Given the description of an element on the screen output the (x, y) to click on. 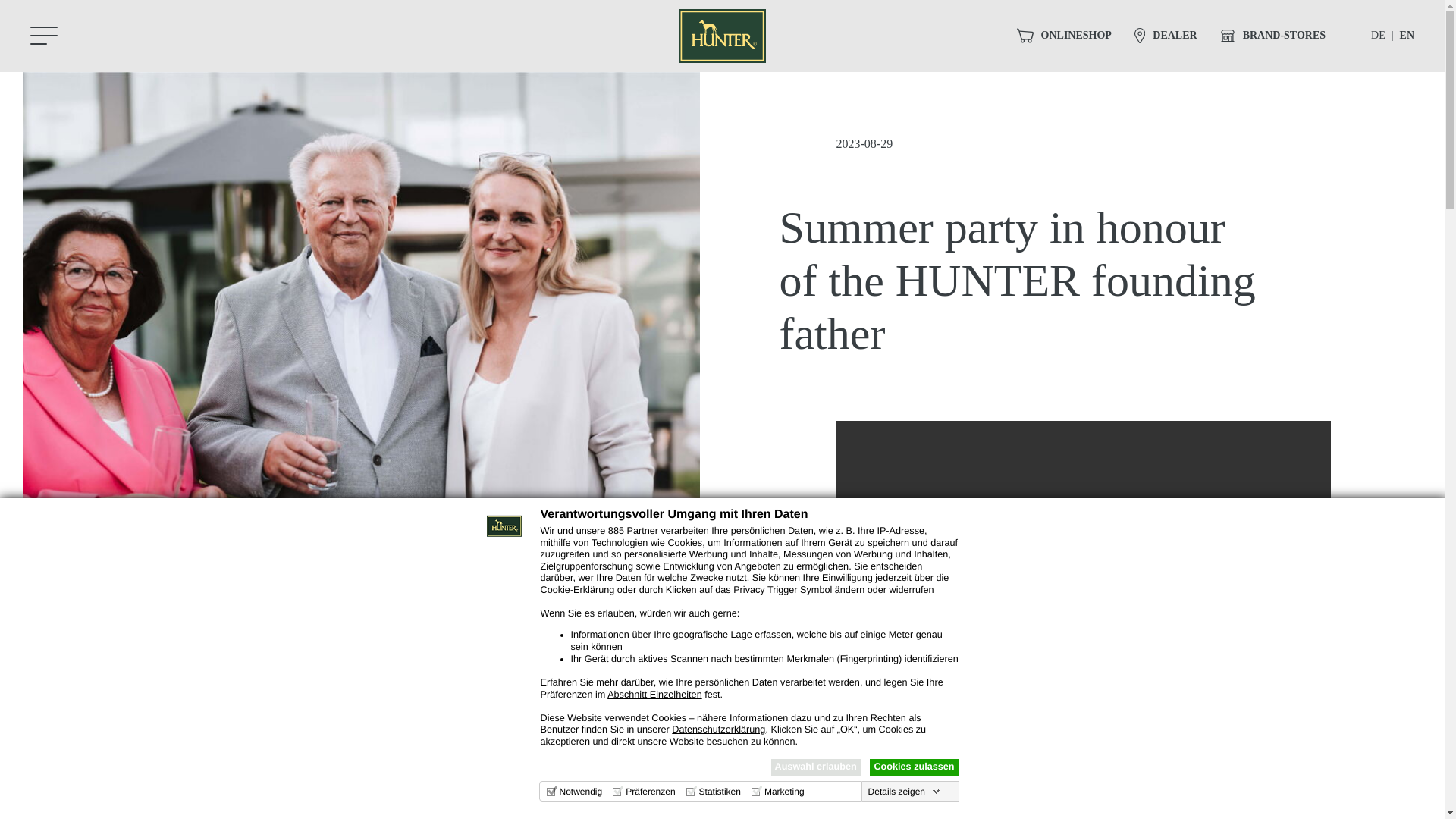
Details zeigen (903, 791)
unsere 885 Partner (617, 530)
Abschnitt Einzelheiten (654, 694)
Cookies zulassen (913, 767)
Auswahl erlauben (815, 767)
